Given the description of an element on the screen output the (x, y) to click on. 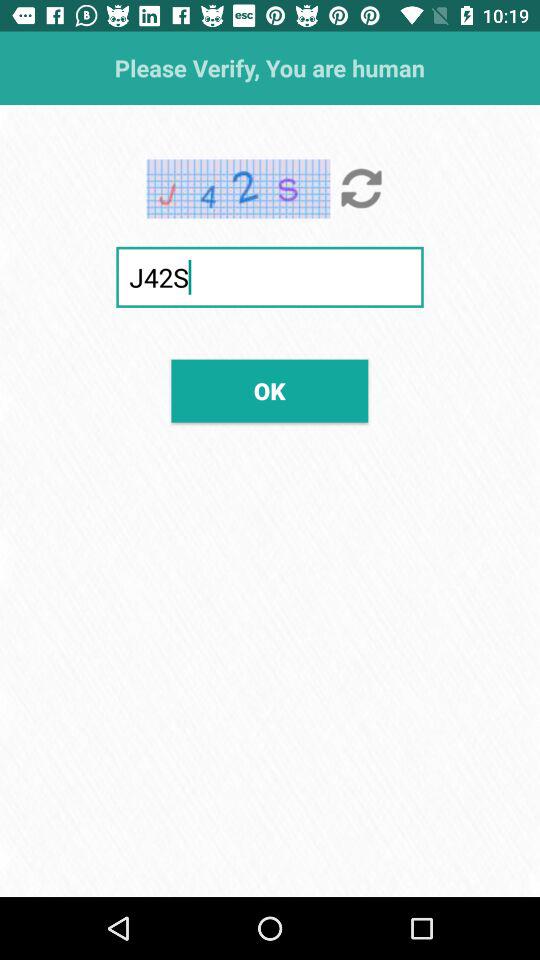
launch the item at the top right corner (361, 188)
